Given the description of an element on the screen output the (x, y) to click on. 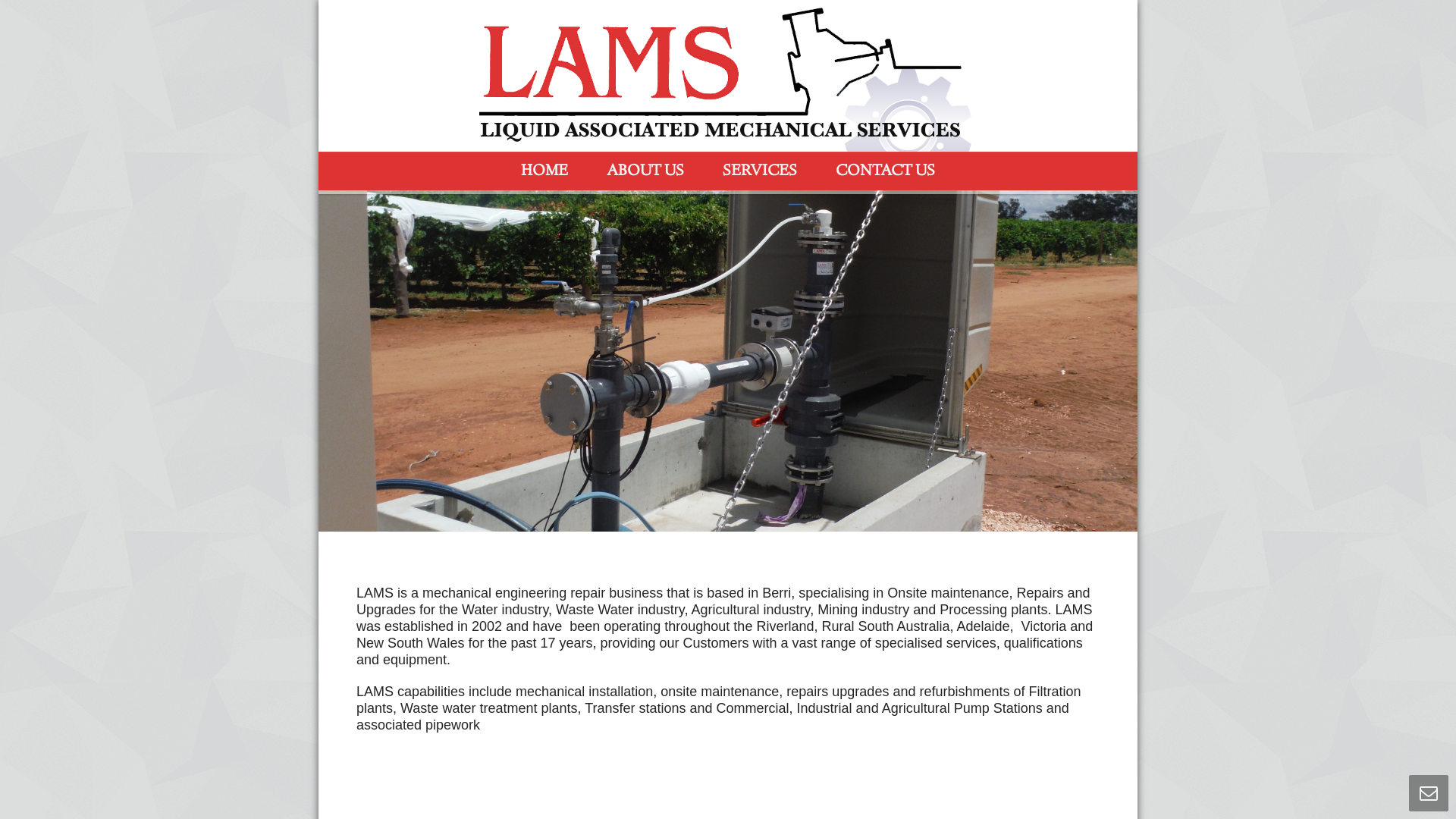
ABOUT US Element type: text (644, 171)
SERVICES Element type: text (759, 171)
Liquid Associated Mechanical Services Element type: hover (727, 75)
CONTACT US Element type: text (884, 171)
HOME Element type: text (544, 171)
